Given the description of an element on the screen output the (x, y) to click on. 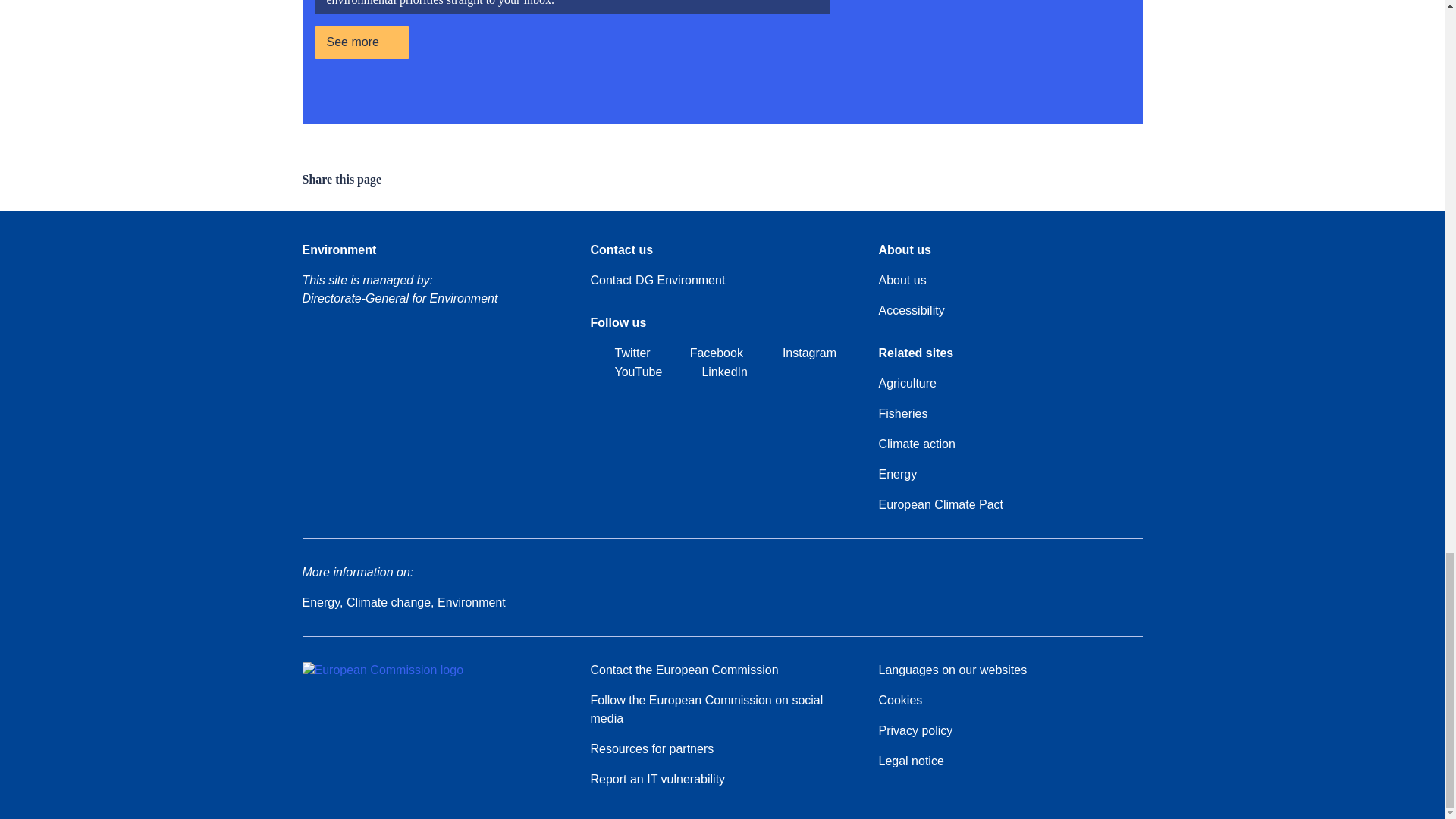
About us (901, 280)
See more (361, 41)
Contact the European Commission (683, 669)
Agriculture (906, 383)
Climate action (916, 443)
Contact DG Environment (657, 280)
Environment (338, 249)
Instagram (796, 353)
LinkedIn (712, 372)
Resources for partners (651, 749)
Follow the European Commission on social media (721, 709)
Facebook (703, 353)
European Climate Pact (940, 505)
Fisheries (902, 413)
Accessibility (910, 311)
